Given the description of an element on the screen output the (x, y) to click on. 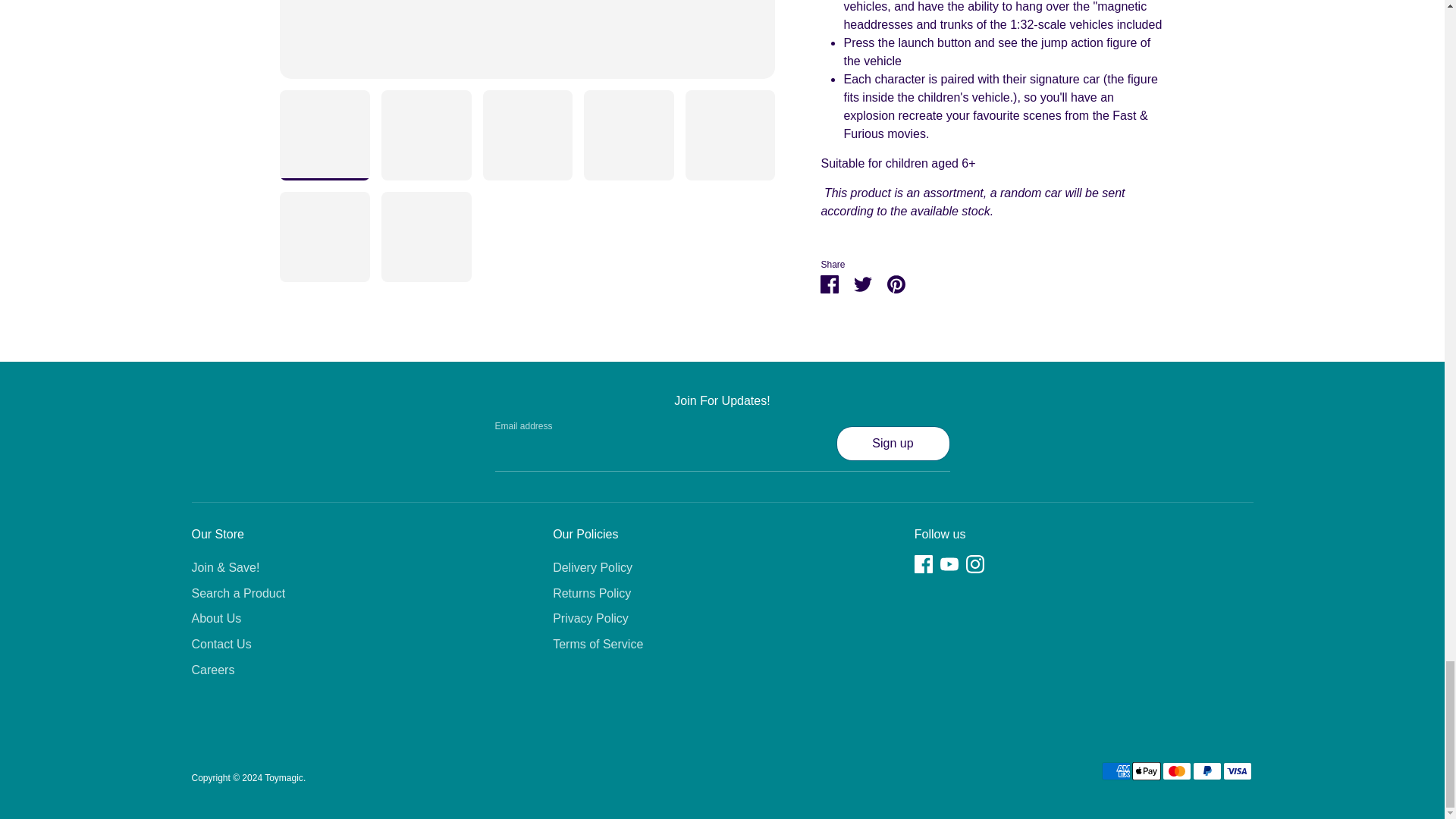
Apple Pay (1145, 771)
American Express (1114, 771)
